Given the description of an element on the screen output the (x, y) to click on. 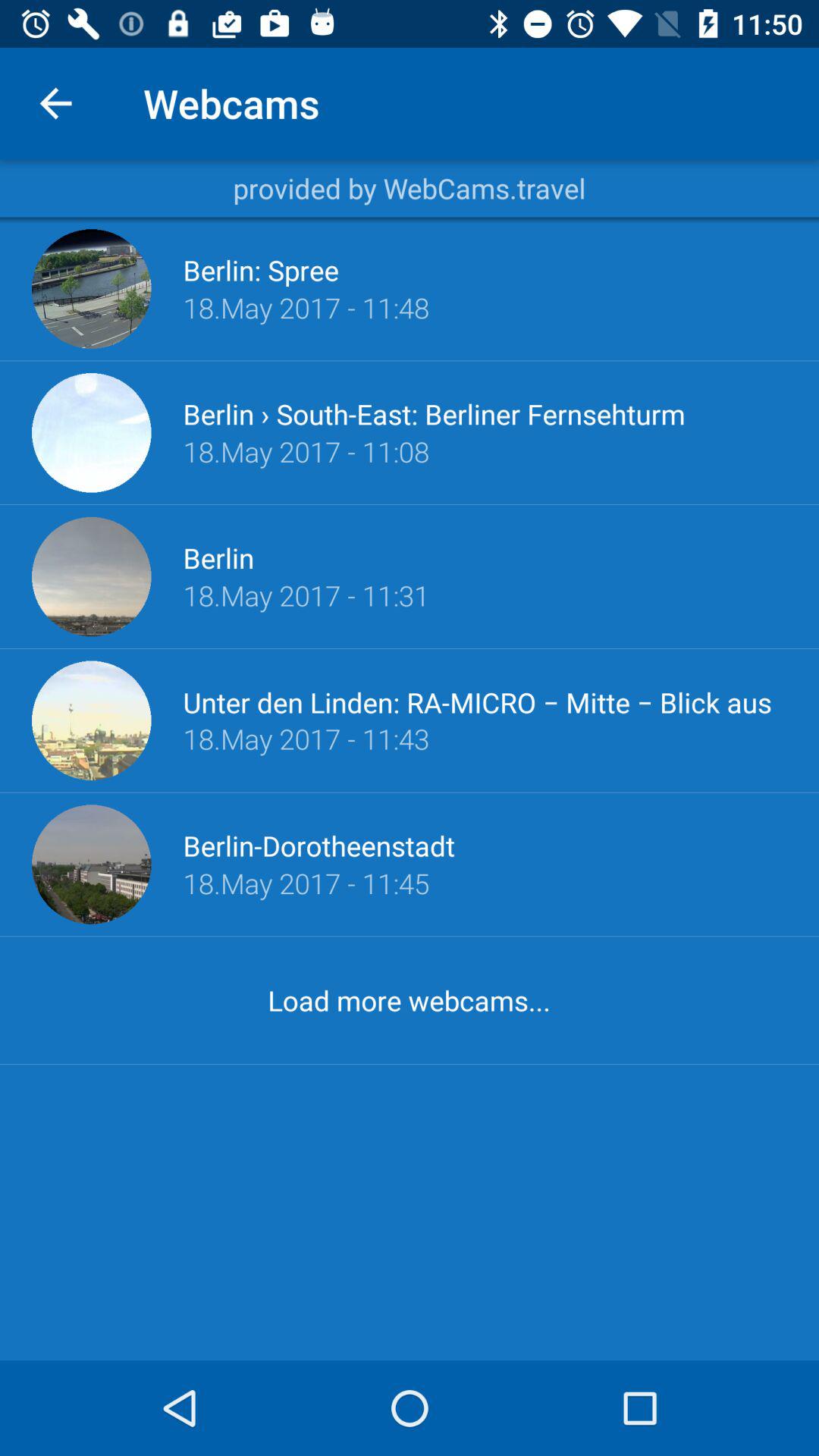
click the icon above 18 may 2017 item (434, 413)
